Given the description of an element on the screen output the (x, y) to click on. 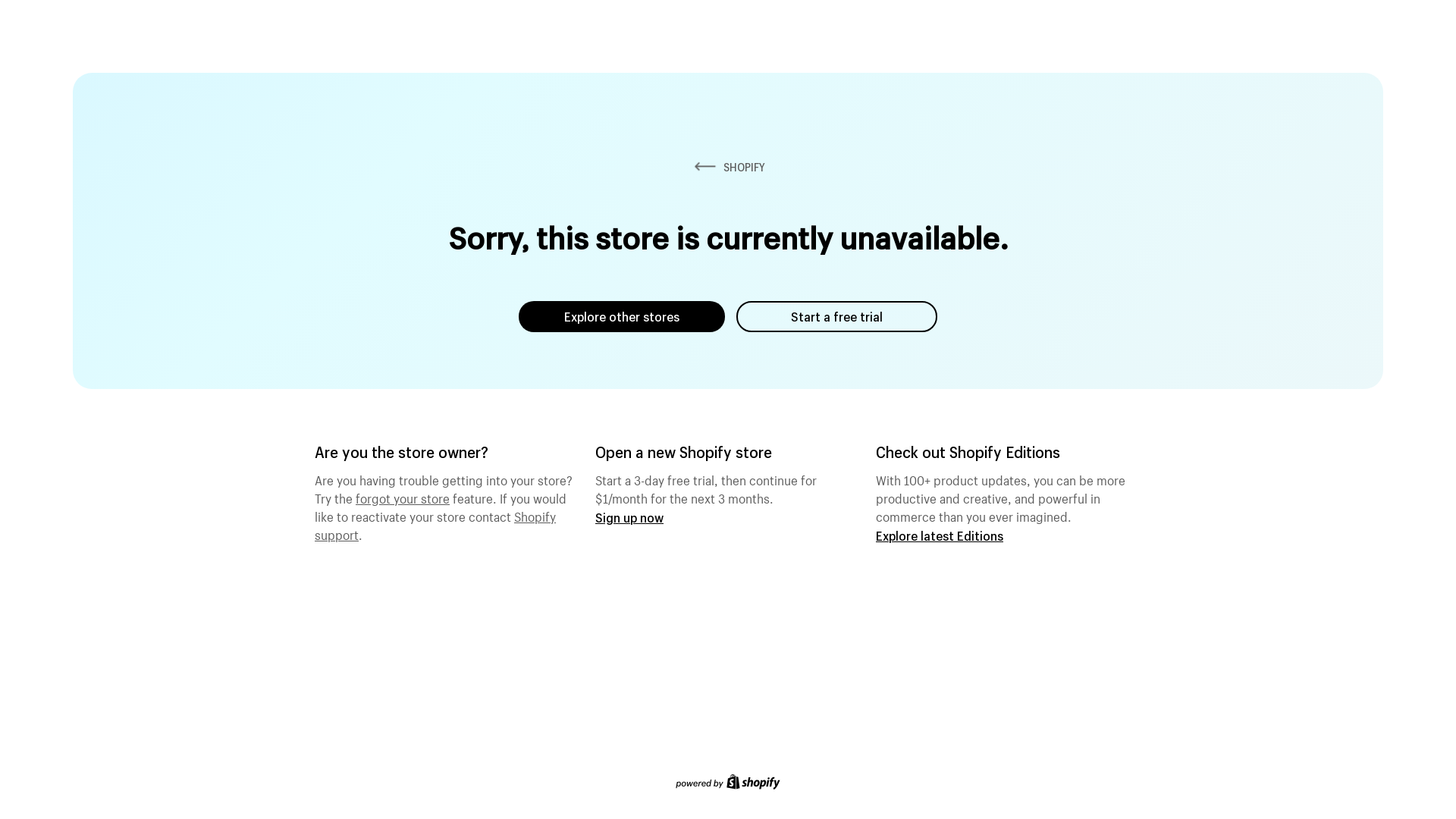
Sign up now Element type: text (629, 517)
forgot your store Element type: text (402, 496)
Explore latest Editions Element type: text (939, 535)
Start a free trial Element type: text (836, 316)
SHOPIFY Element type: text (727, 167)
Explore other stores Element type: text (621, 316)
Shopify support Element type: text (434, 523)
